Given the description of an element on the screen output the (x, y) to click on. 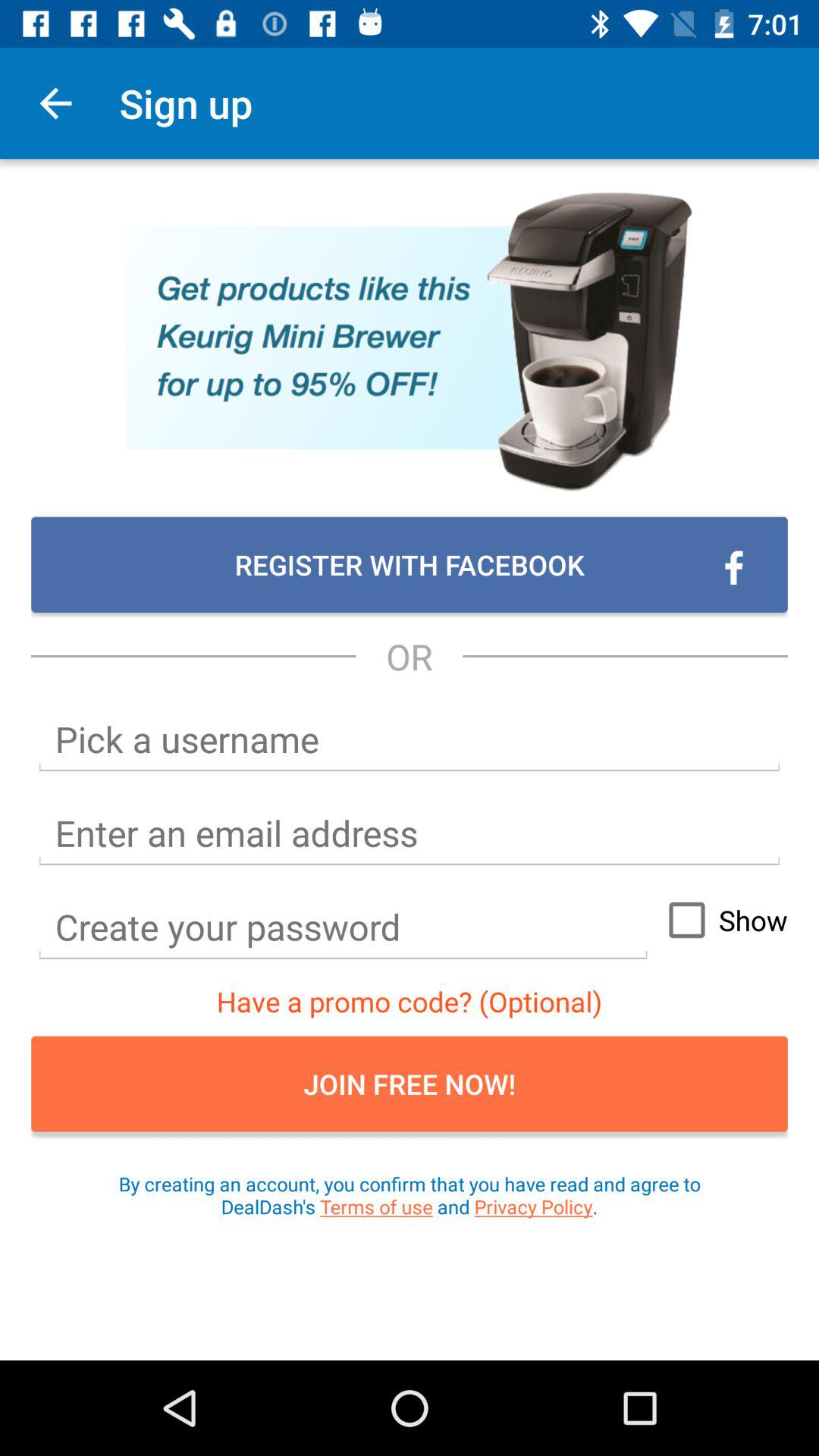
choose icon above register with facebook item (55, 103)
